Given the description of an element on the screen output the (x, y) to click on. 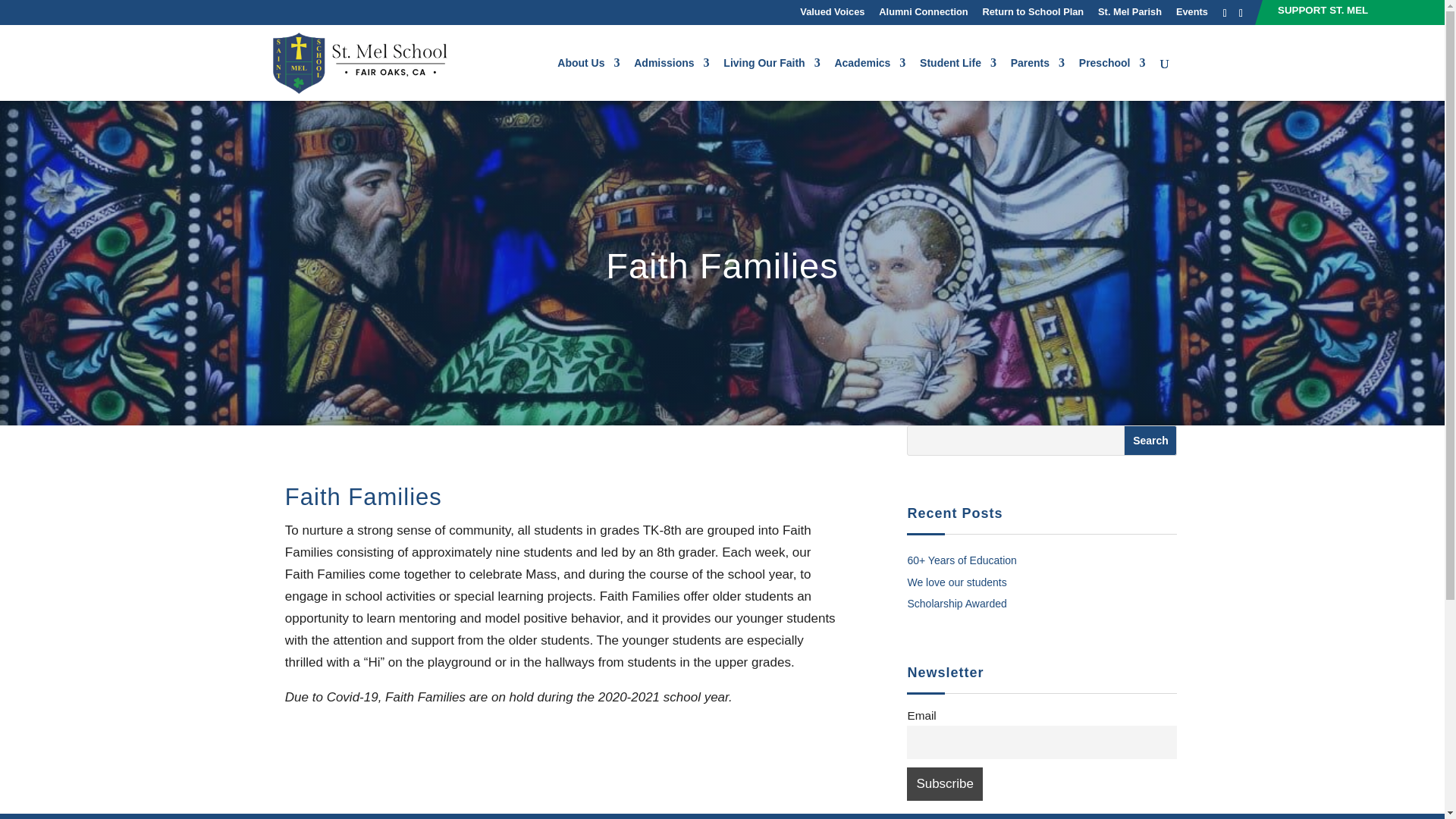
Student Life (957, 78)
Return to School Plan (1033, 11)
Search (1150, 440)
Admissions (671, 78)
Living Our Faith (771, 78)
SUPPORT ST. MEL (1322, 10)
Valued Voices (831, 11)
St. Mel Parish (1129, 11)
Events (1192, 11)
Living Our Faith (771, 78)
Alumni Connection (923, 11)
Academics (869, 78)
Academics (869, 78)
Parents (1037, 78)
Admissions (671, 78)
